Given the description of an element on the screen output the (x, y) to click on. 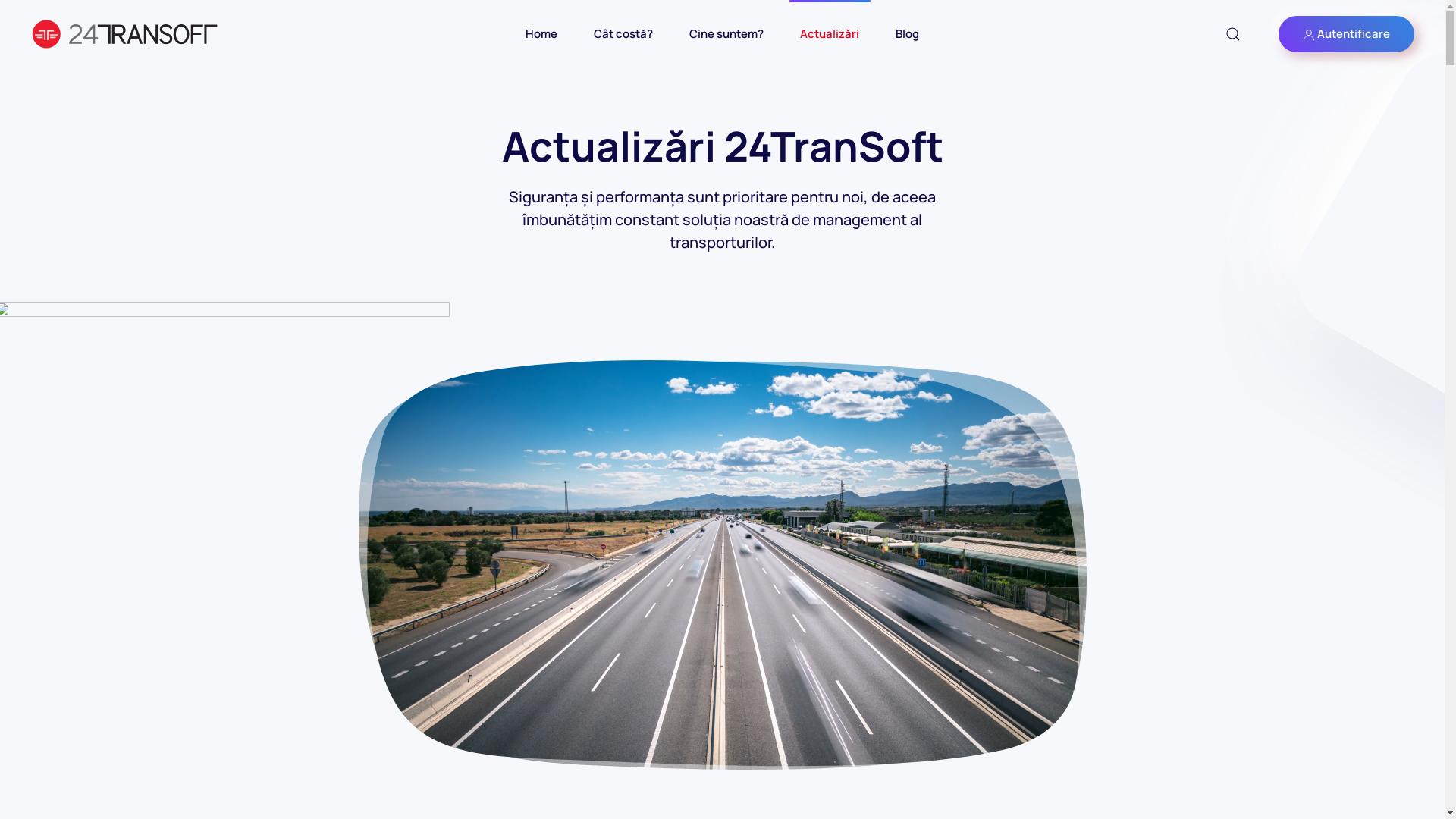
Cine suntem? Element type: text (726, 34)
Autentificare Element type: text (1346, 33)
Blog Element type: text (906, 34)
Home Element type: text (540, 34)
